Given the description of an element on the screen output the (x, y) to click on. 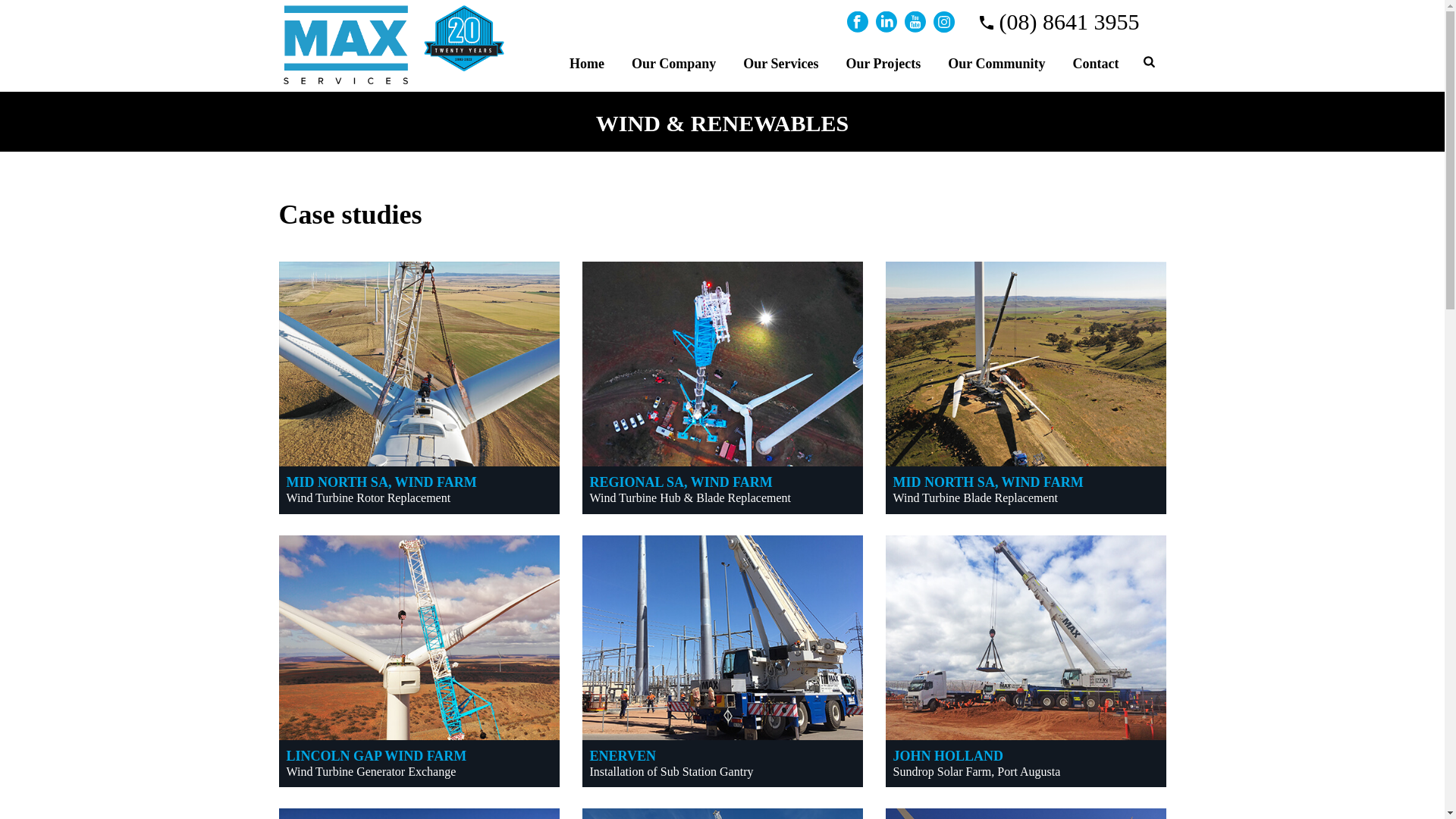
REGIONAL SA, WIND FARM Element type: text (680, 481)
LINCOLN GAP WIND FARM Element type: text (376, 755)
Our Community Element type: text (996, 61)
Contact Element type: text (1095, 61)
JOHN HOLLAND Element type: text (948, 755)
Sundrop Solar Farm, Port Augusta Element type: text (976, 771)
Installation of Sub Station Gantry Element type: text (671, 771)
Wind Turbine Rotor Replacement Element type: text (368, 497)
ENERVEN Element type: text (622, 755)
MID NORTH SA, WIND FARM Element type: text (381, 481)
Wind Turbine Generator Exchange Element type: text (371, 771)
Our Services Element type: text (780, 61)
Wind Turbine Blade Replacement Element type: text (975, 497)
MID NORTH SA, WIND FARM Element type: text (988, 481)
Wind Turbine Hub & Blade Replacement Element type: text (690, 497)
Our Projects Element type: text (882, 61)
(08) 8641 3955 Element type: text (1058, 21)
Home Element type: text (586, 61)
Our Company Element type: text (673, 61)
